Given the description of an element on the screen output the (x, y) to click on. 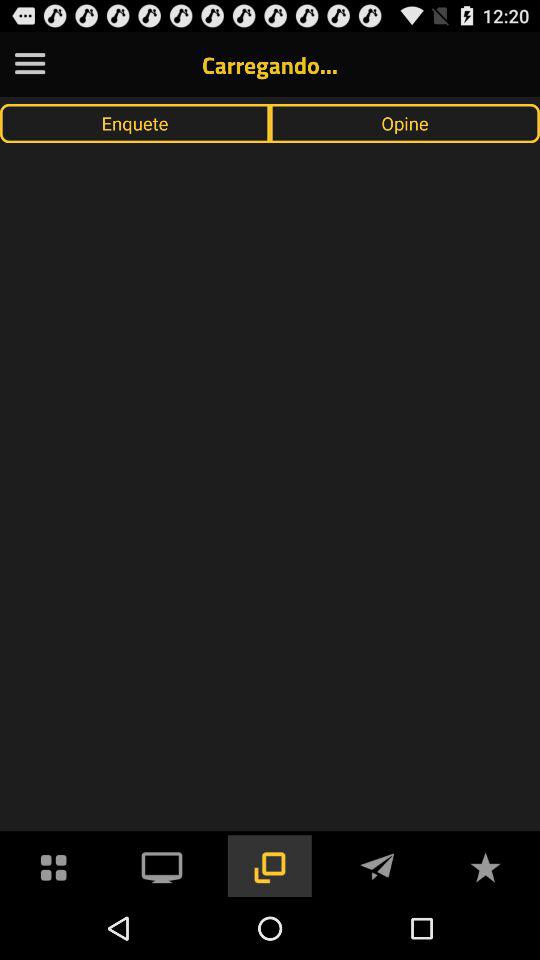
make screen larger (269, 865)
